Given the description of an element on the screen output the (x, y) to click on. 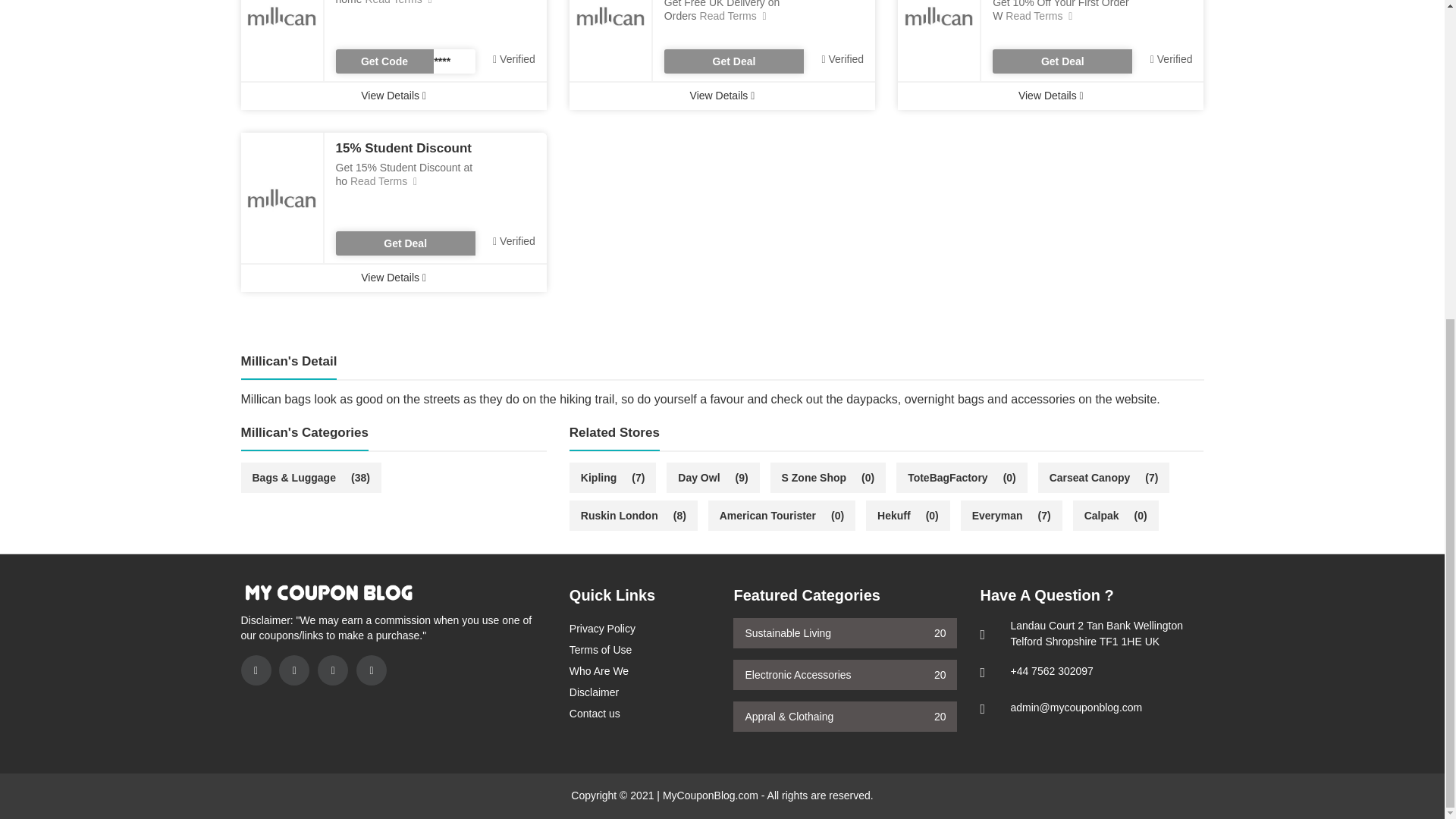
No Code (404, 242)
No Code (1062, 61)
Read Terms   (732, 15)
Read Terms   (397, 2)
No Code (733, 61)
Read Terms   (381, 181)
Read Terms   (1037, 15)
